Given the description of an element on the screen output the (x, y) to click on. 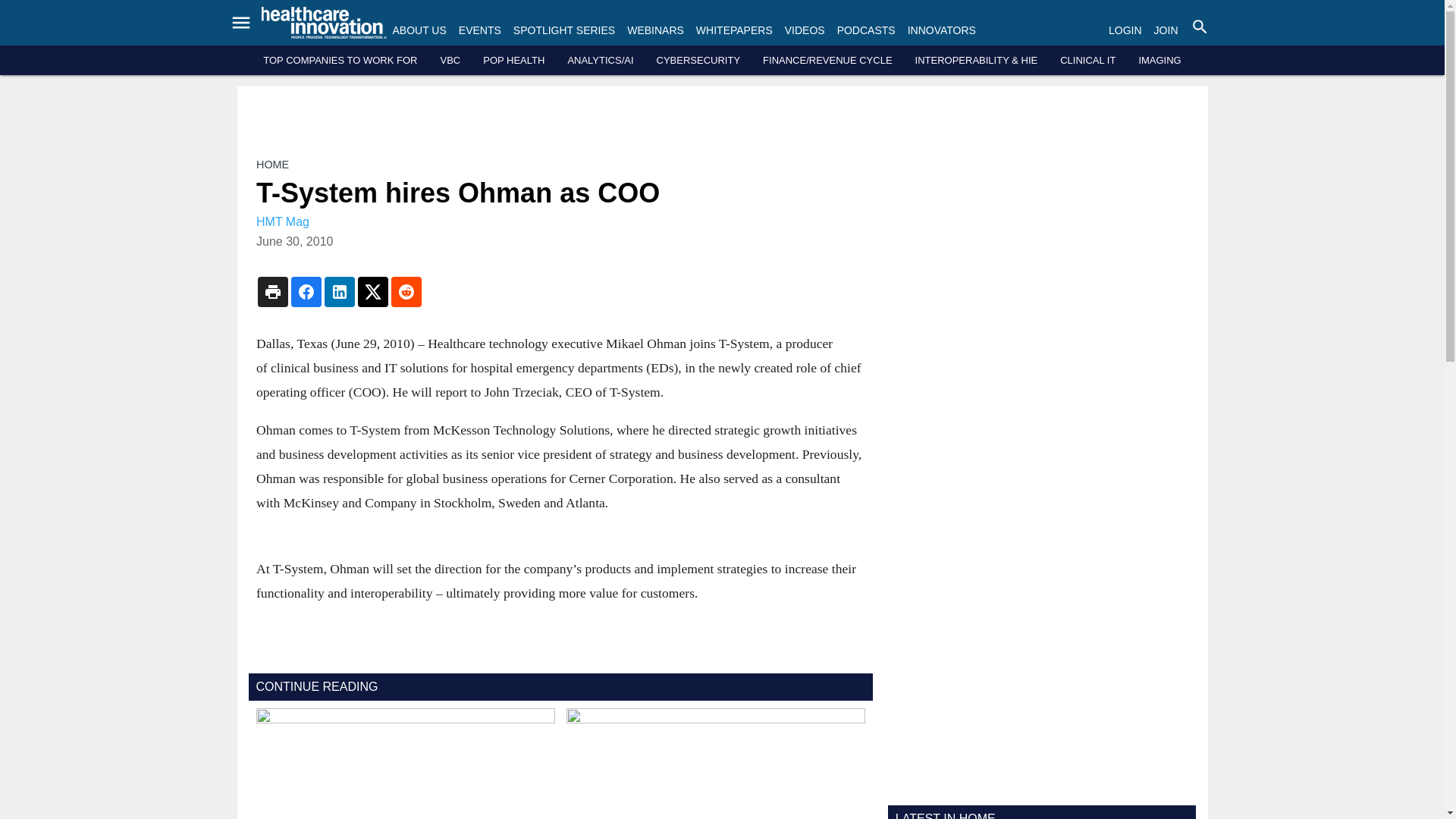
POP HEALTH (513, 60)
TOP COMPANIES TO WORK FOR (339, 60)
CYBERSECURITY (698, 60)
VIDEOS (804, 30)
CLINICAL IT (1087, 60)
JOIN (1165, 30)
EVENTS (479, 30)
LOGIN (1124, 30)
VBC (449, 60)
WEBINARS (655, 30)
ABOUT US (419, 30)
SPOTLIGHT SERIES (563, 30)
IMAGING (1159, 60)
INNOVATORS (941, 30)
WHITEPAPERS (734, 30)
